Given the description of an element on the screen output the (x, y) to click on. 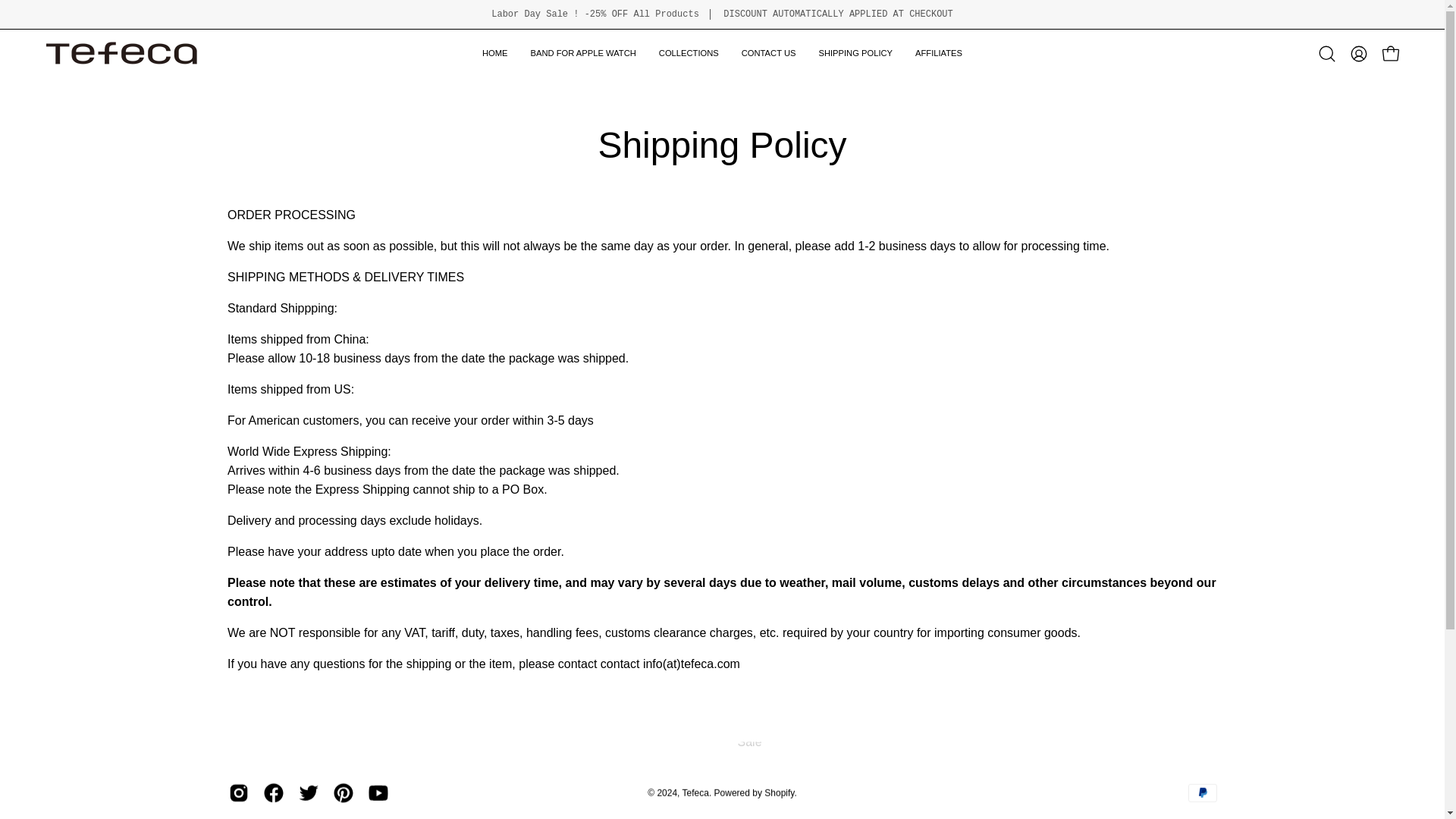
HOME (494, 52)
View Tefeca on Facebook (273, 793)
View Tefeca on Youtube (378, 793)
View Tefeca on Pinterest (343, 793)
BAND FOR APPLE WATCH (583, 52)
View Tefeca on Twitter (308, 793)
View Tefeca on Instagram (238, 793)
Open search bar (1326, 53)
